Given the description of an element on the screen output the (x, y) to click on. 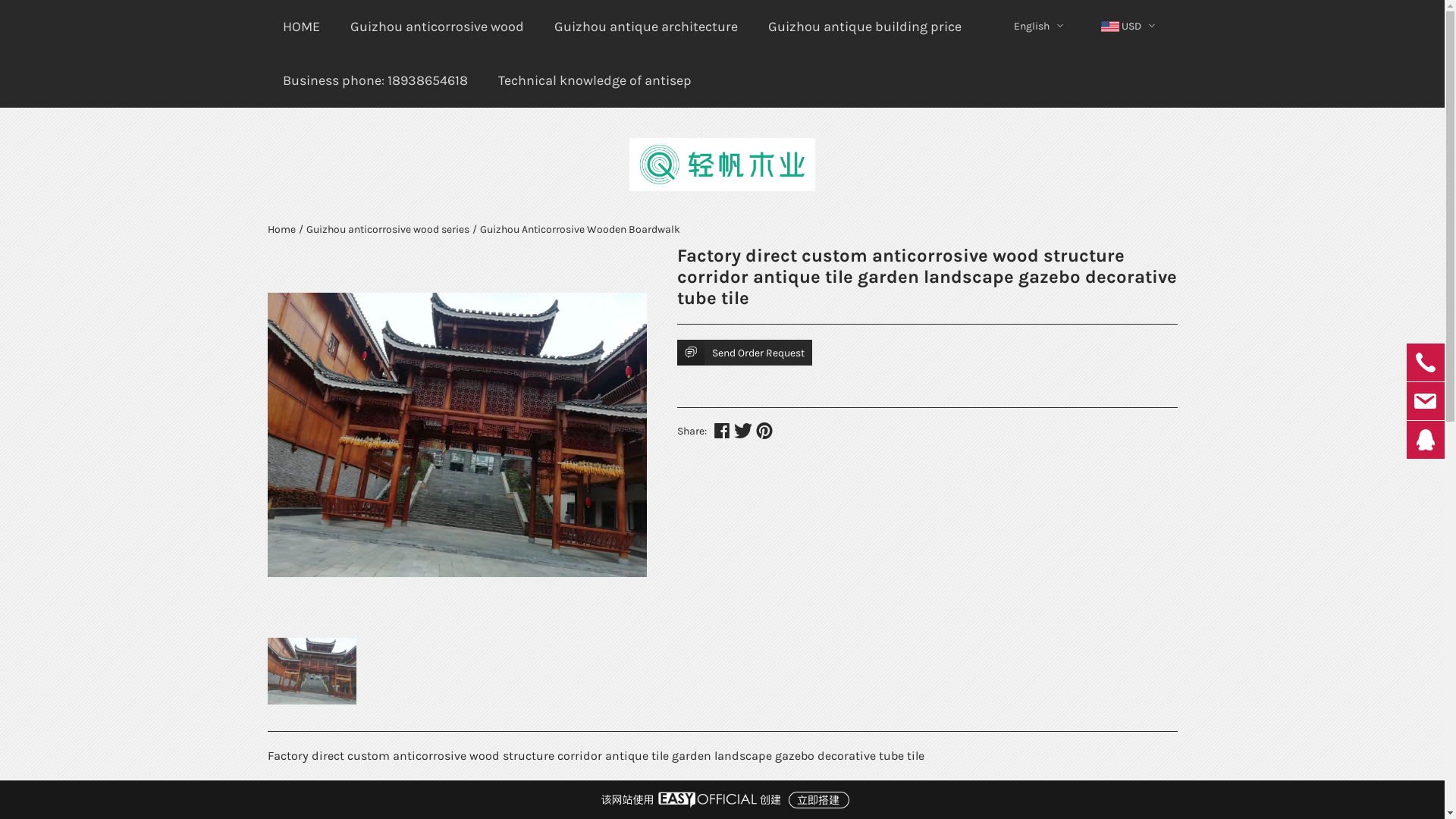
Guizhou anticorrosive wood series Element type: text (387, 228)
HOME Element type: text (300, 26)
Business phone: 18938654618 Element type: text (374, 80)
Guizhou antique architecture Element type: text (645, 26)
Guizhou antique building price Element type: text (863, 26)
Home Element type: text (280, 228)
Guizhou anticorrosive wood Element type: text (437, 26)
Send Order Request Element type: text (743, 352)
Technical knowledge of antisep Element type: text (594, 80)
Guizhou Anticorrosive Wooden Boardwalk Element type: text (579, 228)
